Given the description of an element on the screen output the (x, y) to click on. 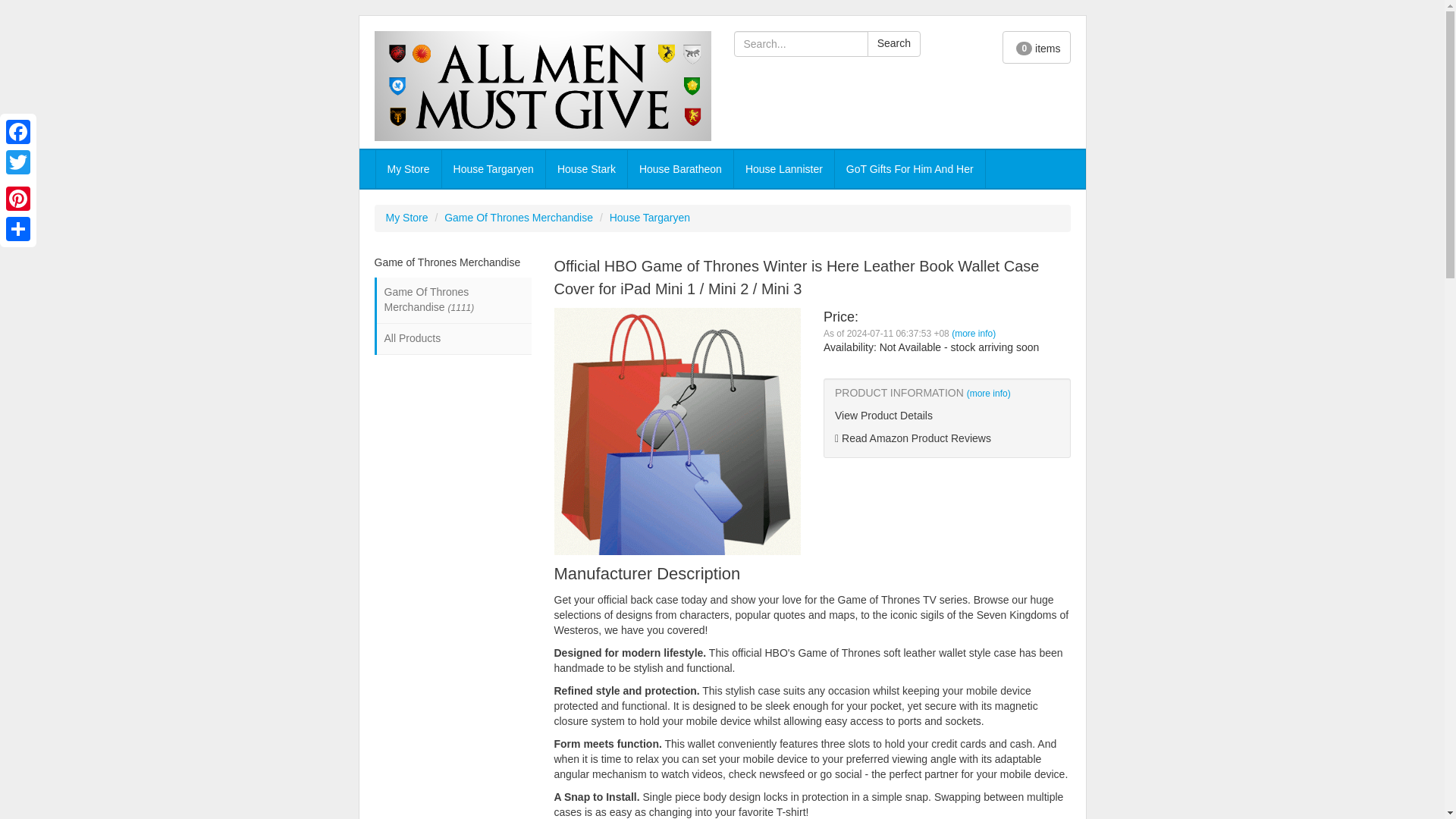
House Targaryen (493, 168)
Game Of Thrones Shop (542, 85)
My Store (408, 168)
House Lannister (783, 168)
0 items (1036, 47)
Not Available (909, 346)
View Product Details (946, 415)
House Targaryen (650, 217)
Search (893, 43)
House Stark (586, 168)
Game Of Thrones Merchandise (518, 217)
Search (893, 43)
Read Amazon Product Reviews (946, 438)
House Baratheon (680, 168)
My Store (406, 217)
